Given the description of an element on the screen output the (x, y) to click on. 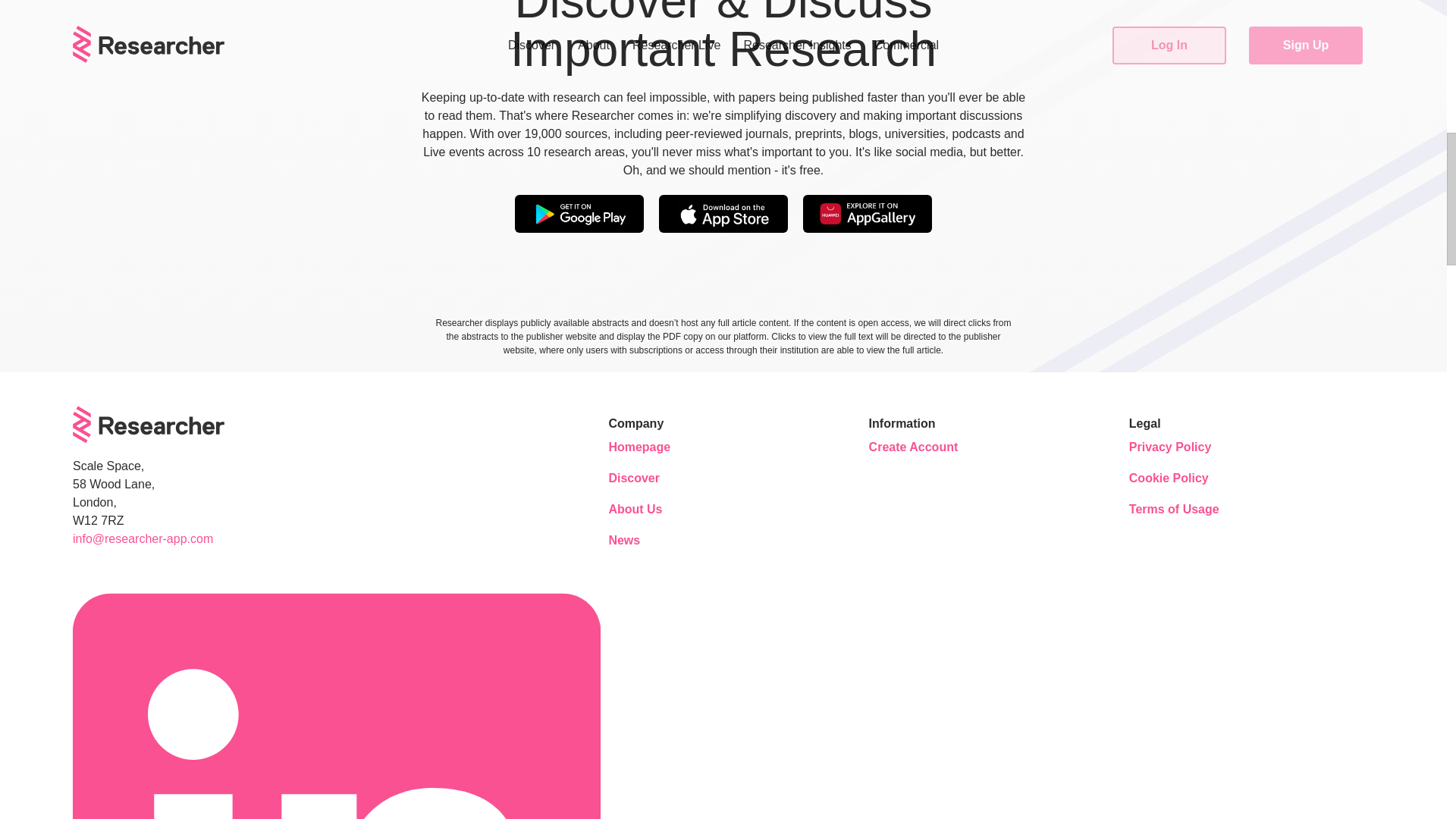
Terms of Usage (1173, 509)
Discover (653, 478)
Homepage (653, 447)
Create Account (914, 447)
Privacy Policy (1173, 447)
About Us (653, 509)
Cookie Policy (1173, 478)
News (653, 540)
